Given the description of an element on the screen output the (x, y) to click on. 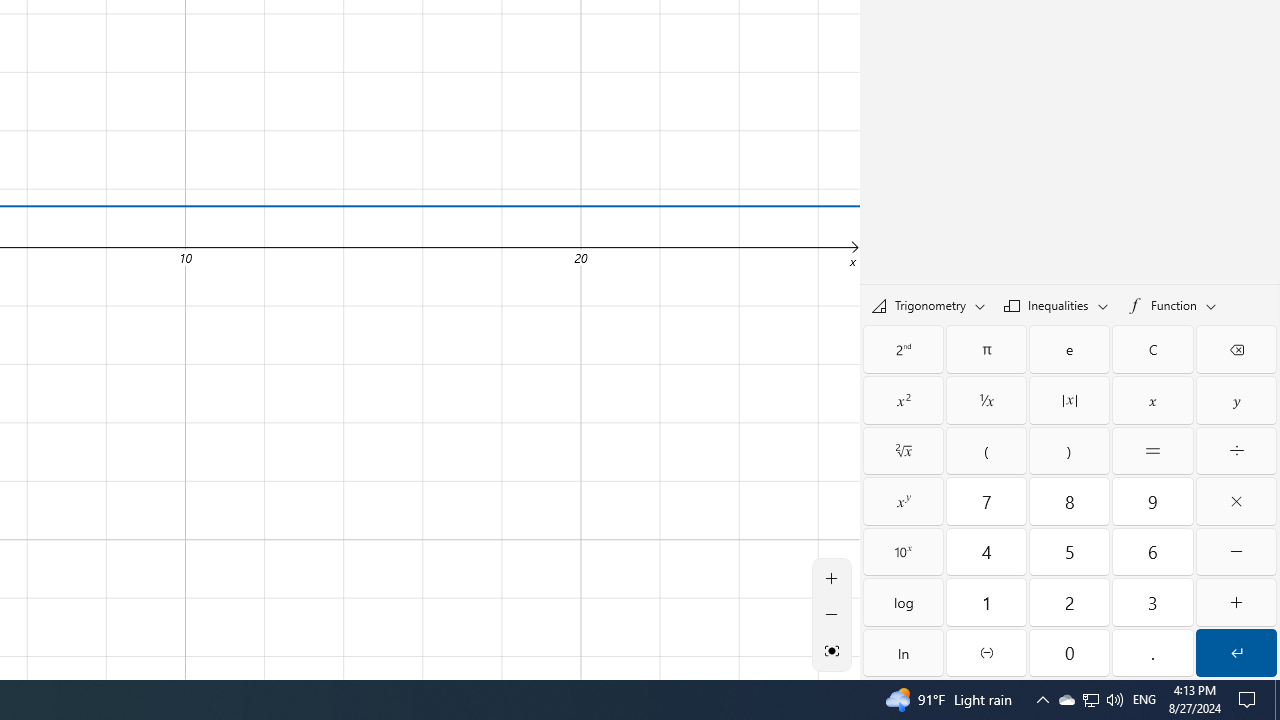
Decimal separator (1153, 652)
Five (1069, 551)
Functions (1171, 305)
Eight (1069, 501)
Square (903, 399)
Two (1069, 602)
X (1153, 399)
Equals (1153, 450)
Inverse function (903, 348)
Absolute value (1069, 399)
Right parenthesis (1069, 450)
Y (1236, 399)
Multiply by (1236, 501)
Nine (1153, 501)
